Given the description of an element on the screen output the (x, y) to click on. 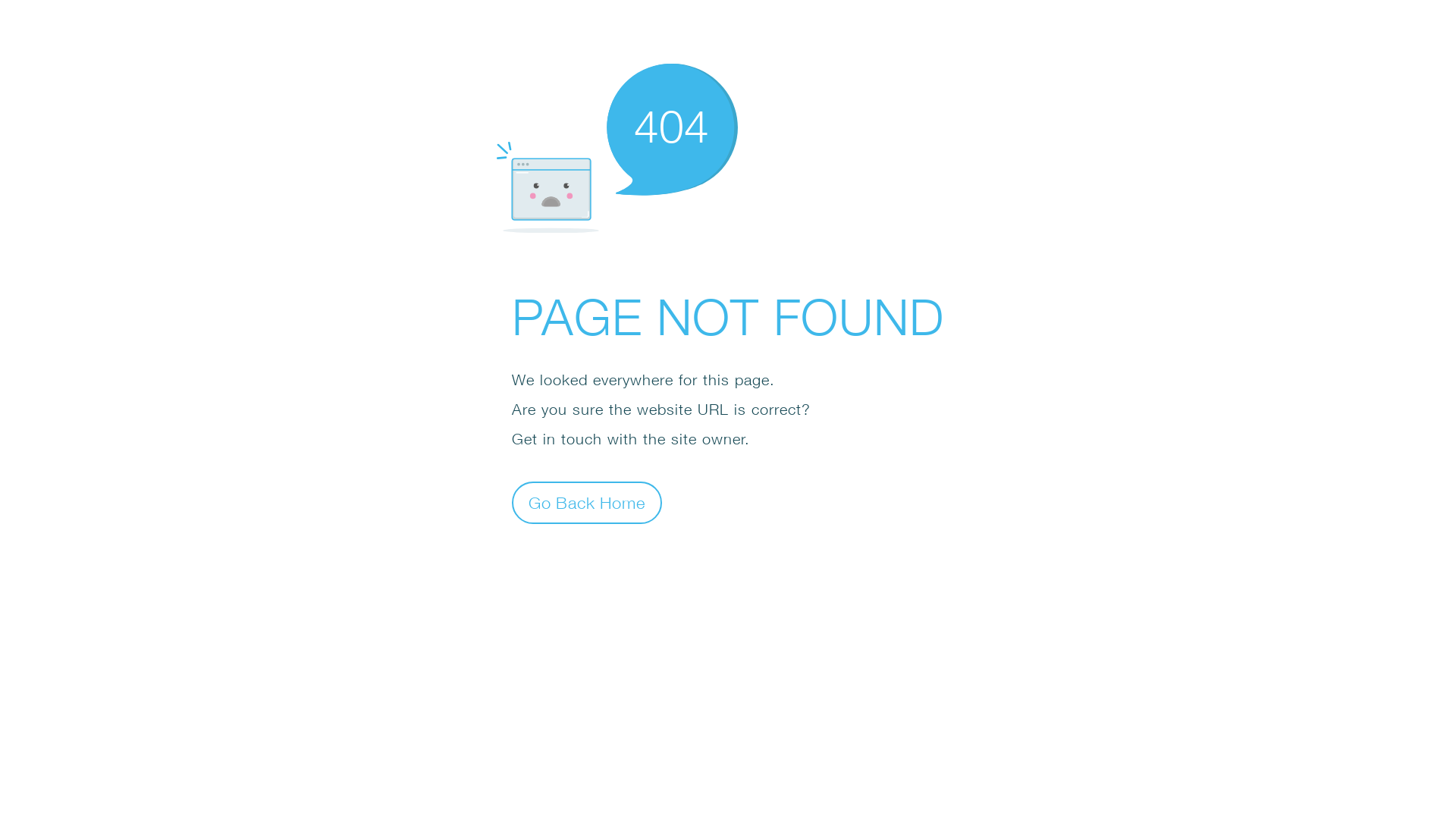
Go Back Home Element type: text (586, 502)
